Given the description of an element on the screen output the (x, y) to click on. 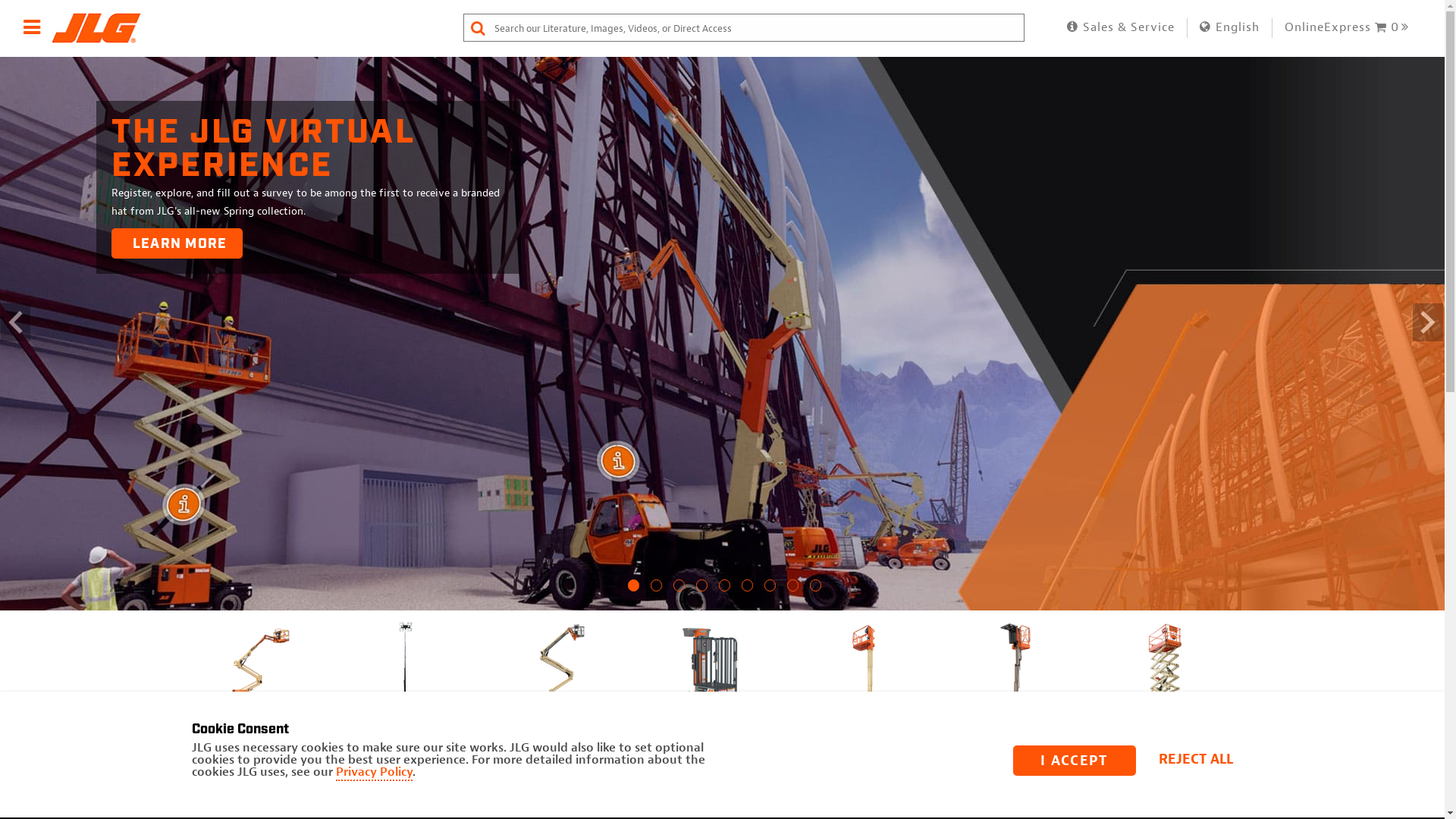
9 Element type: text (815, 590)
English Element type: text (1229, 26)
7 Element type: text (769, 590)
Privacy Policy Element type: text (373, 772)
5 Element type: text (724, 590)
OnlineExpress 0 Element type: text (1347, 26)
I ACCEPT Element type: text (1074, 760)
REJECT ALL Element type: text (1200, 760)
3 Element type: text (678, 590)
Lighting Towers Element type: text (406, 674)
1 Element type: text (633, 590)
8 Element type: text (792, 590)
Trailers Element type: text (1316, 674)
Vertical Lifts Element type: text (861, 674)
Low-Level Access Element type: text (710, 674)
Engine Powered Boom Lifts Element type: text (255, 682)
Scissor Lifts Element type: text (1165, 674)
Stock Pickers Element type: text (1013, 674)
Sales & Service Element type: text (1119, 26)
2 Element type: text (656, 590)
Electric & Hybrid Boom Lifts Element type: text (558, 682)
4 Element type: text (701, 590)
Next Element type: text (1241, 741)
LEARN MORE Element type: text (176, 243)
6 Element type: text (747, 590)
